Given the description of an element on the screen output the (x, y) to click on. 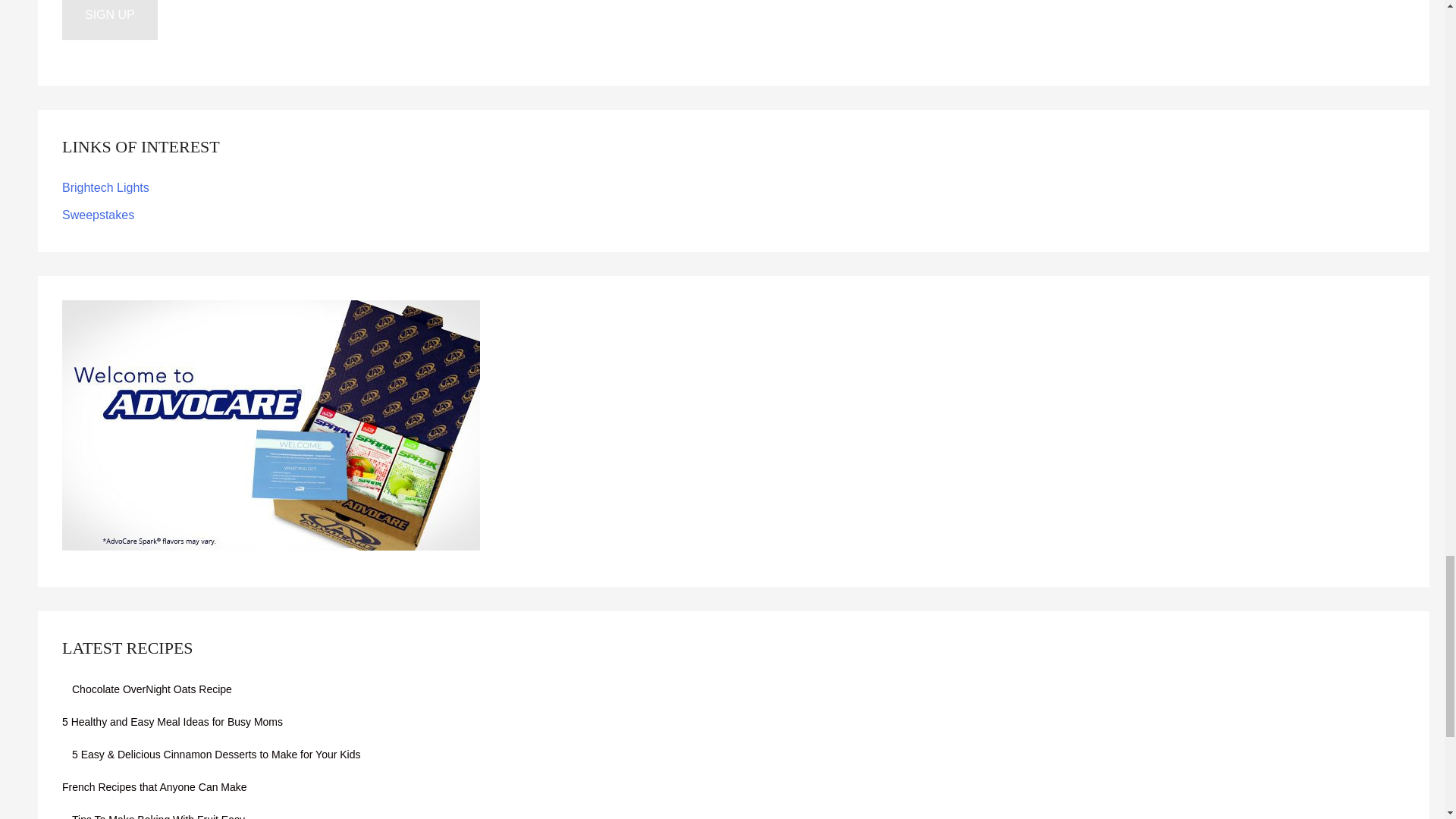
Awesome lighting for your home! (105, 187)
Sign up (109, 20)
Sweepstakes (97, 214)
